Given the description of an element on the screen output the (x, y) to click on. 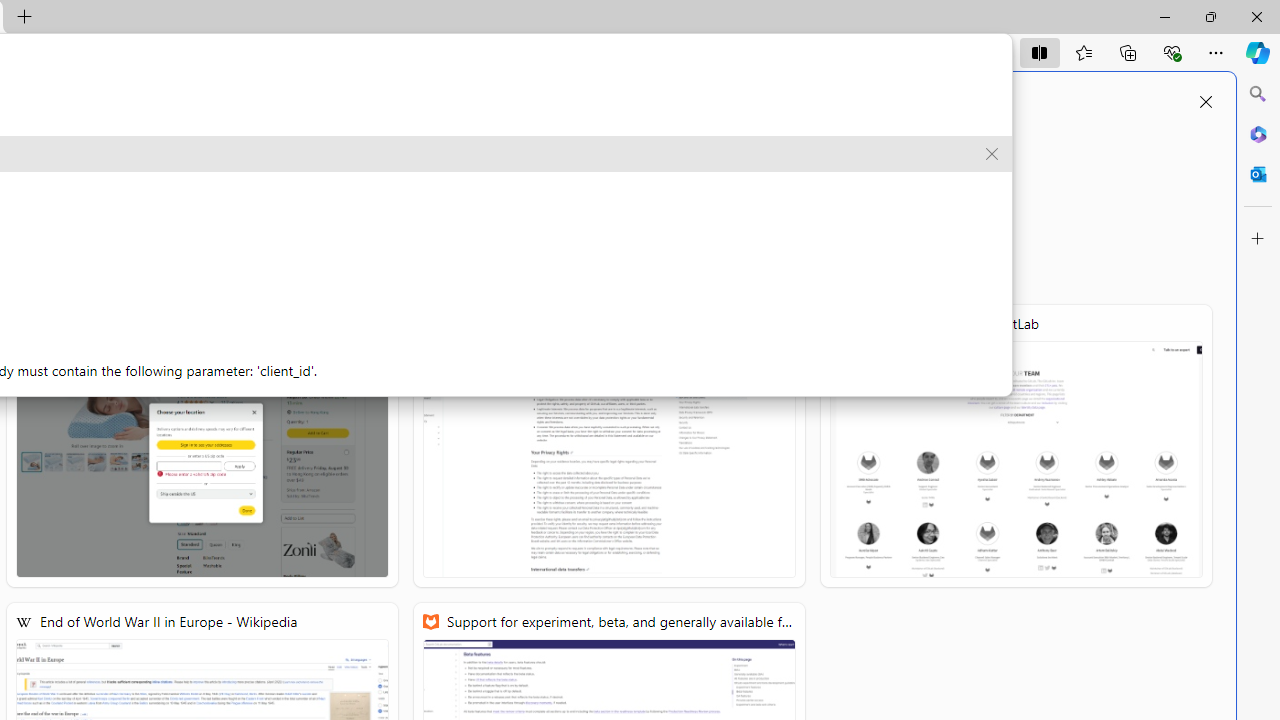
Meet the GitLab team | GitLab (1016, 446)
Close split screen (1205, 102)
